Given the description of an element on the screen output the (x, y) to click on. 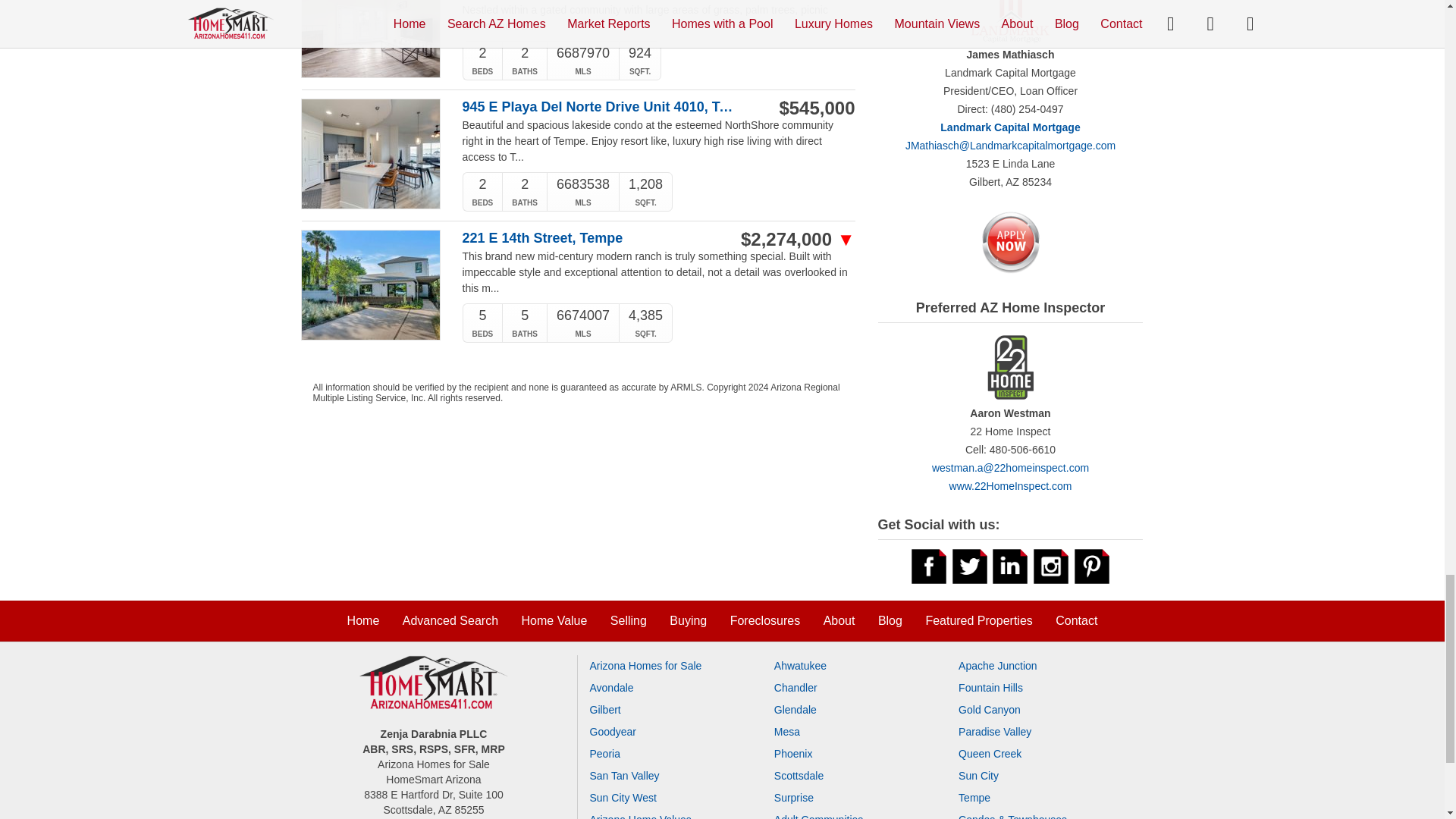
Arizona Home Inspections (1010, 485)
Apply for A Mortgage with Landmark Capital Mortgage (1010, 241)
Email Aaron at 22 Home Inspect (1010, 467)
Arizona Home Inspections - 22 Home Inspect (1009, 375)
Landmark Capital Mortgage (1010, 127)
Landmark Capital Mortgage - James Mathiasch (1009, 30)
Connect on Facebook (928, 565)
Email James (1010, 145)
